Given the description of an element on the screen output the (x, y) to click on. 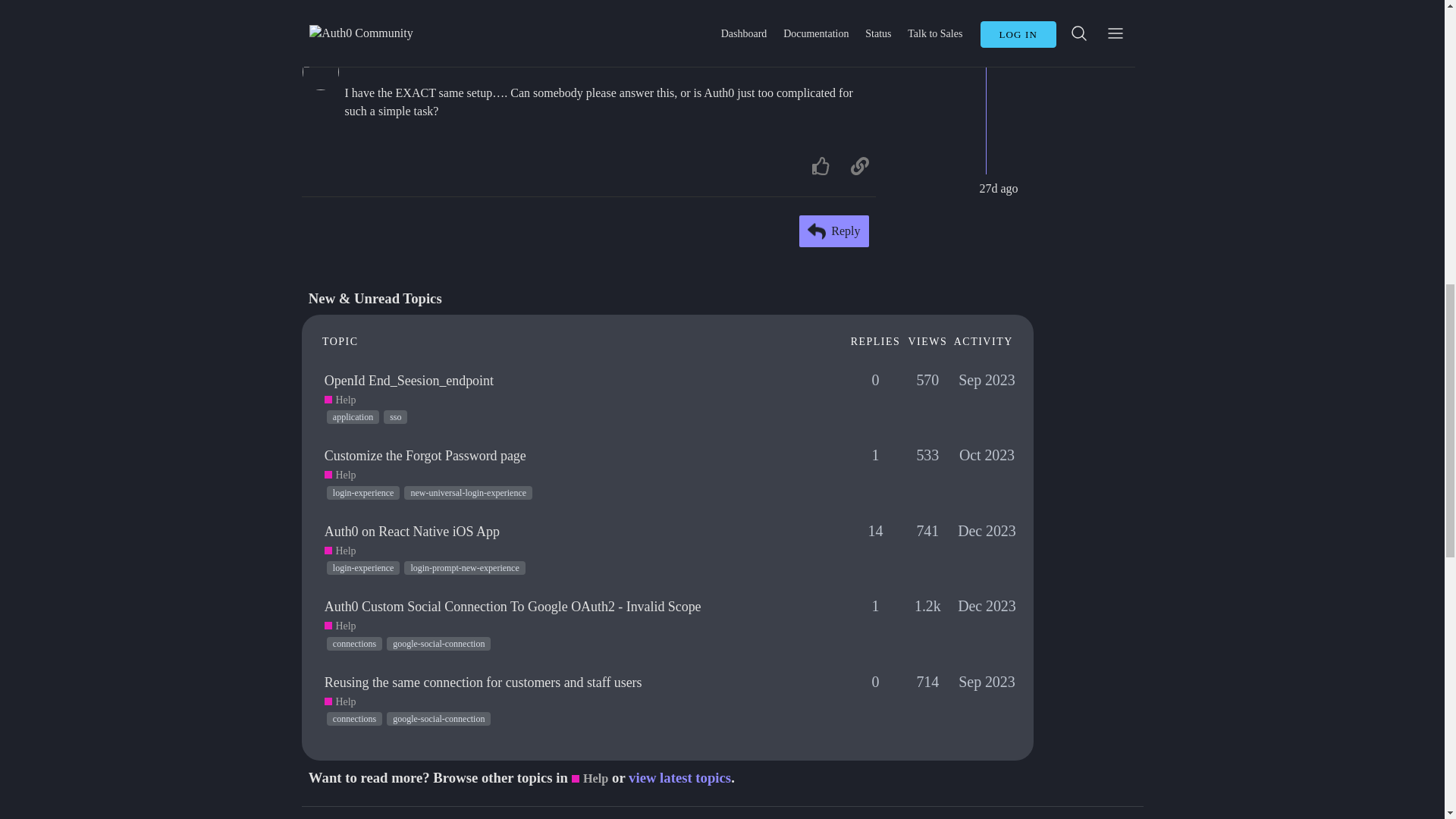
Help (340, 400)
Reply (834, 231)
27d (857, 60)
